Given the description of an element on the screen output the (x, y) to click on. 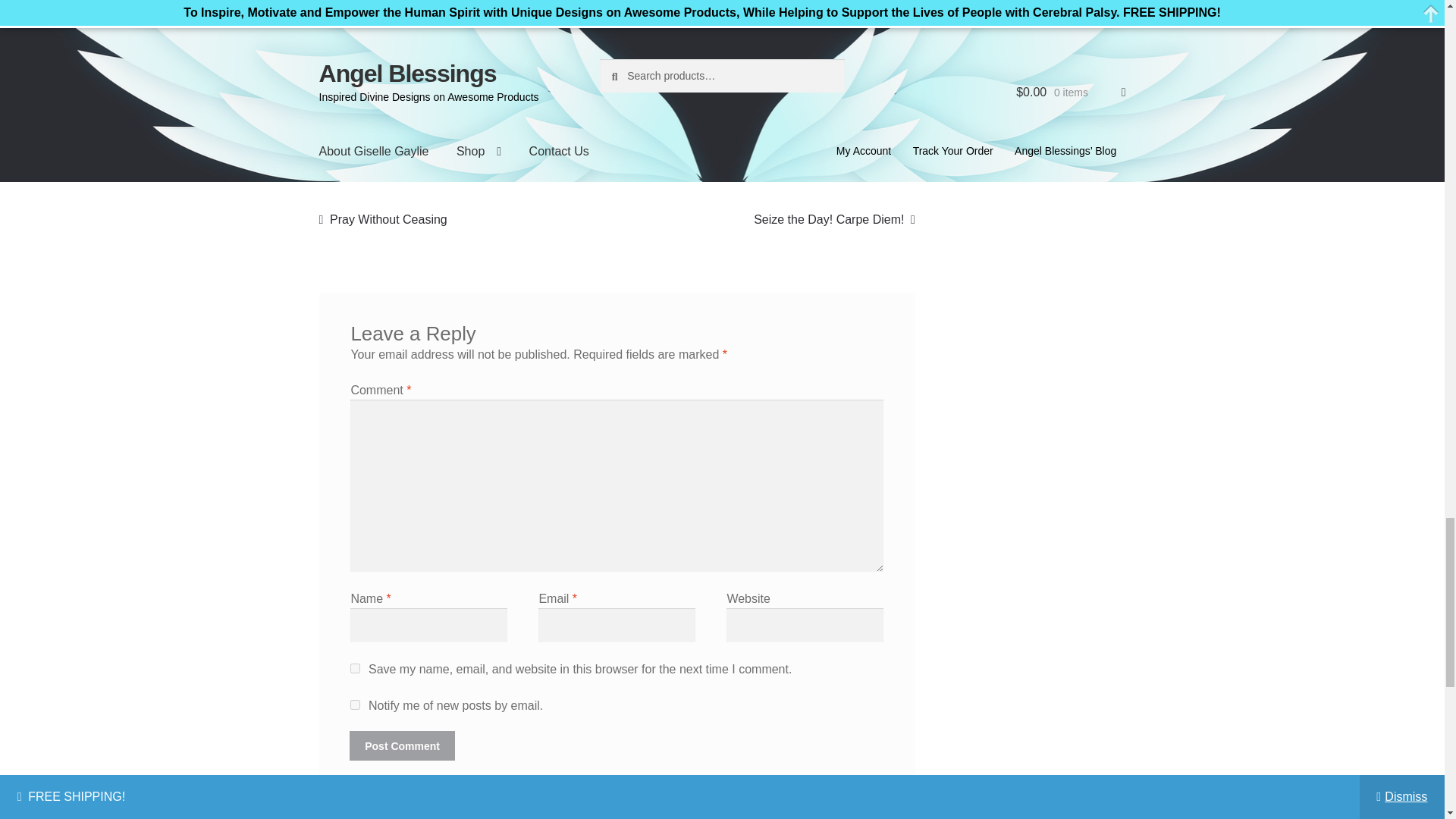
yes (354, 668)
Post Comment (401, 745)
subscribe (354, 705)
